Given the description of an element on the screen output the (x, y) to click on. 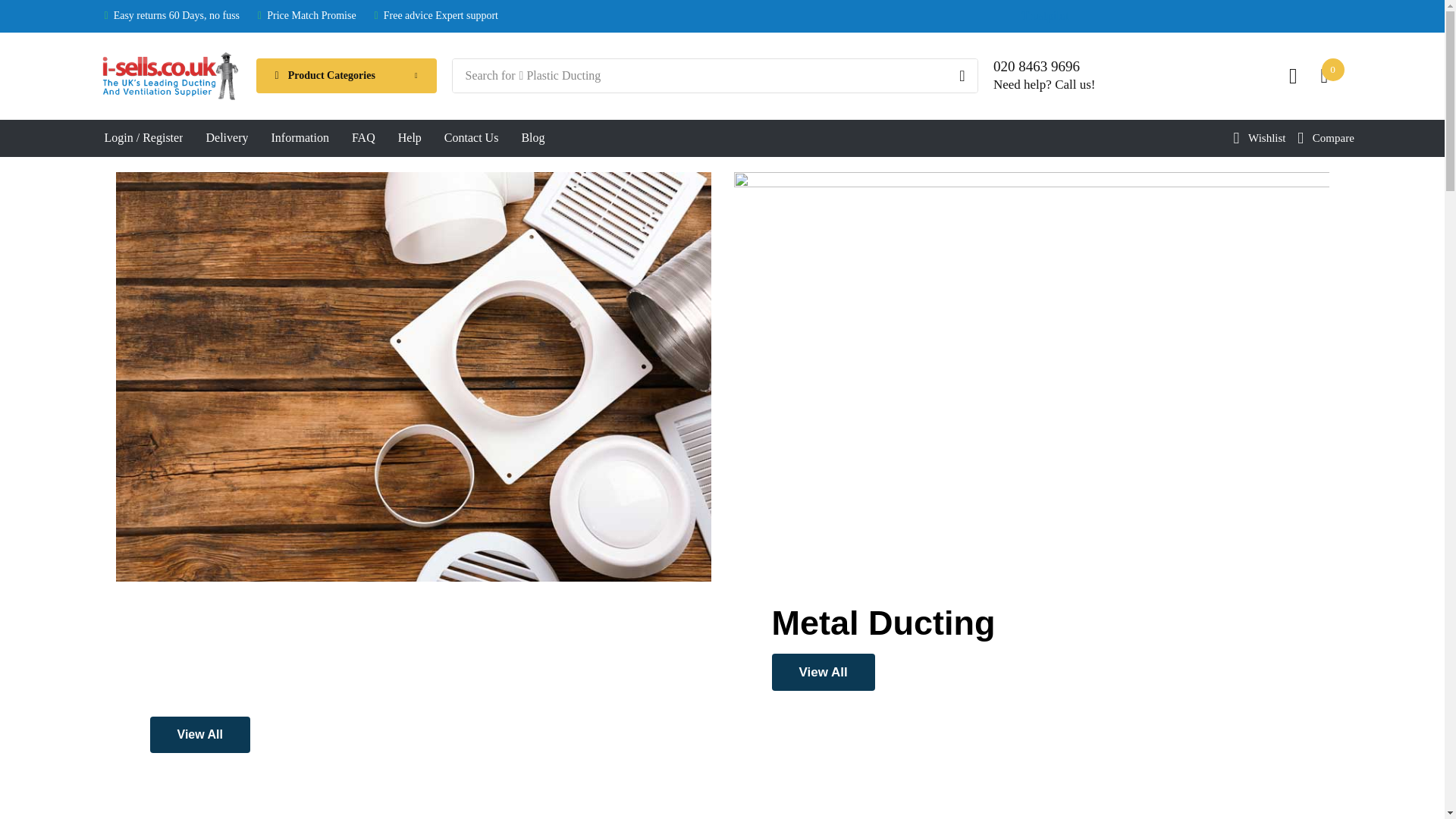
Trustpilot (1046, 15)
